Given the description of an element on the screen output the (x, y) to click on. 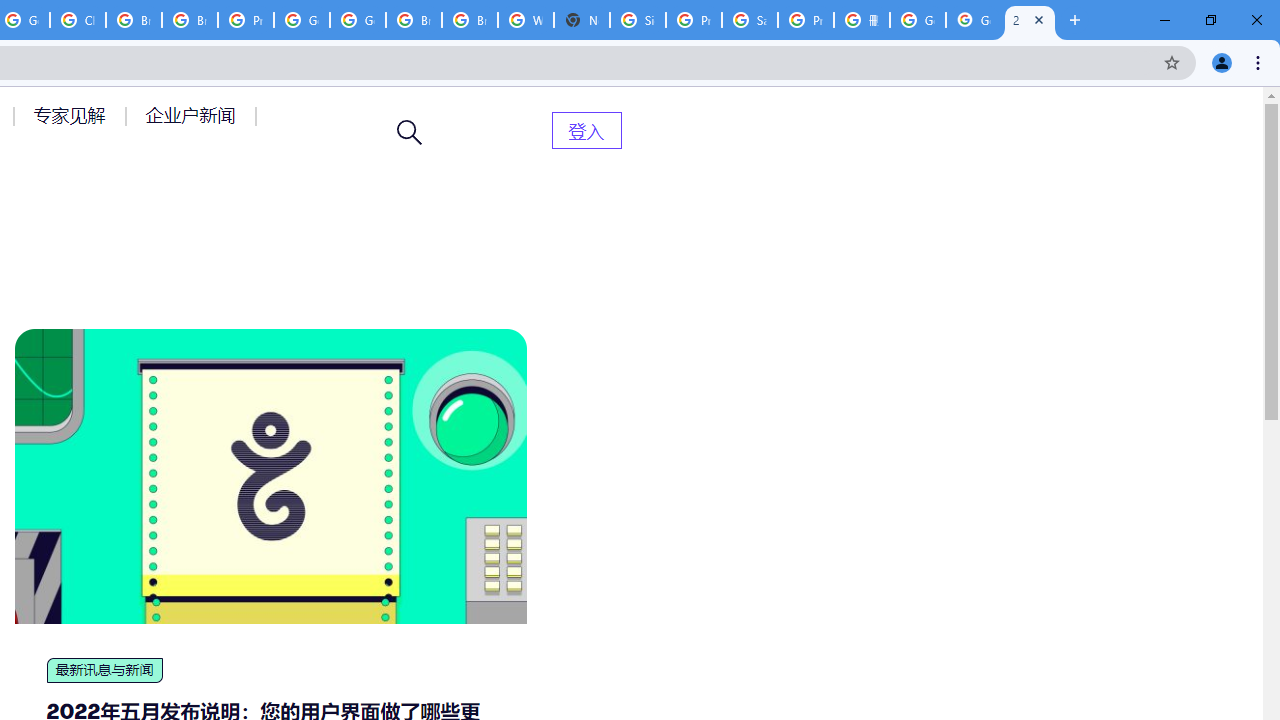
Google Cloud Platform (301, 20)
Browse Chrome as a guest - Computer - Google Chrome Help (134, 20)
New Tab (582, 20)
Google Cloud Platform (358, 20)
Sign in - Google Accounts (637, 20)
